Given the description of an element on the screen output the (x, y) to click on. 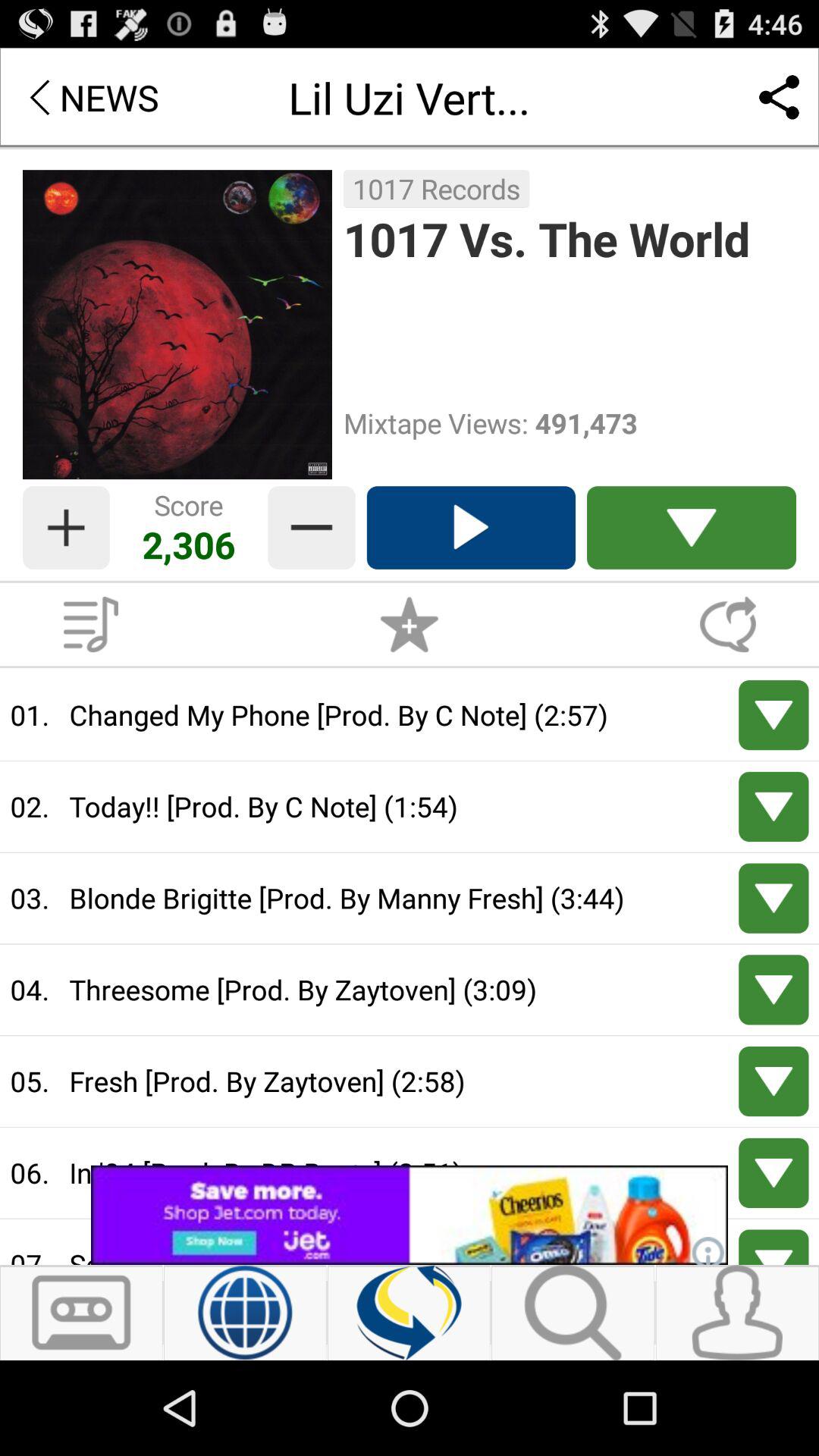
expand selection (773, 898)
